Given the description of an element on the screen output the (x, y) to click on. 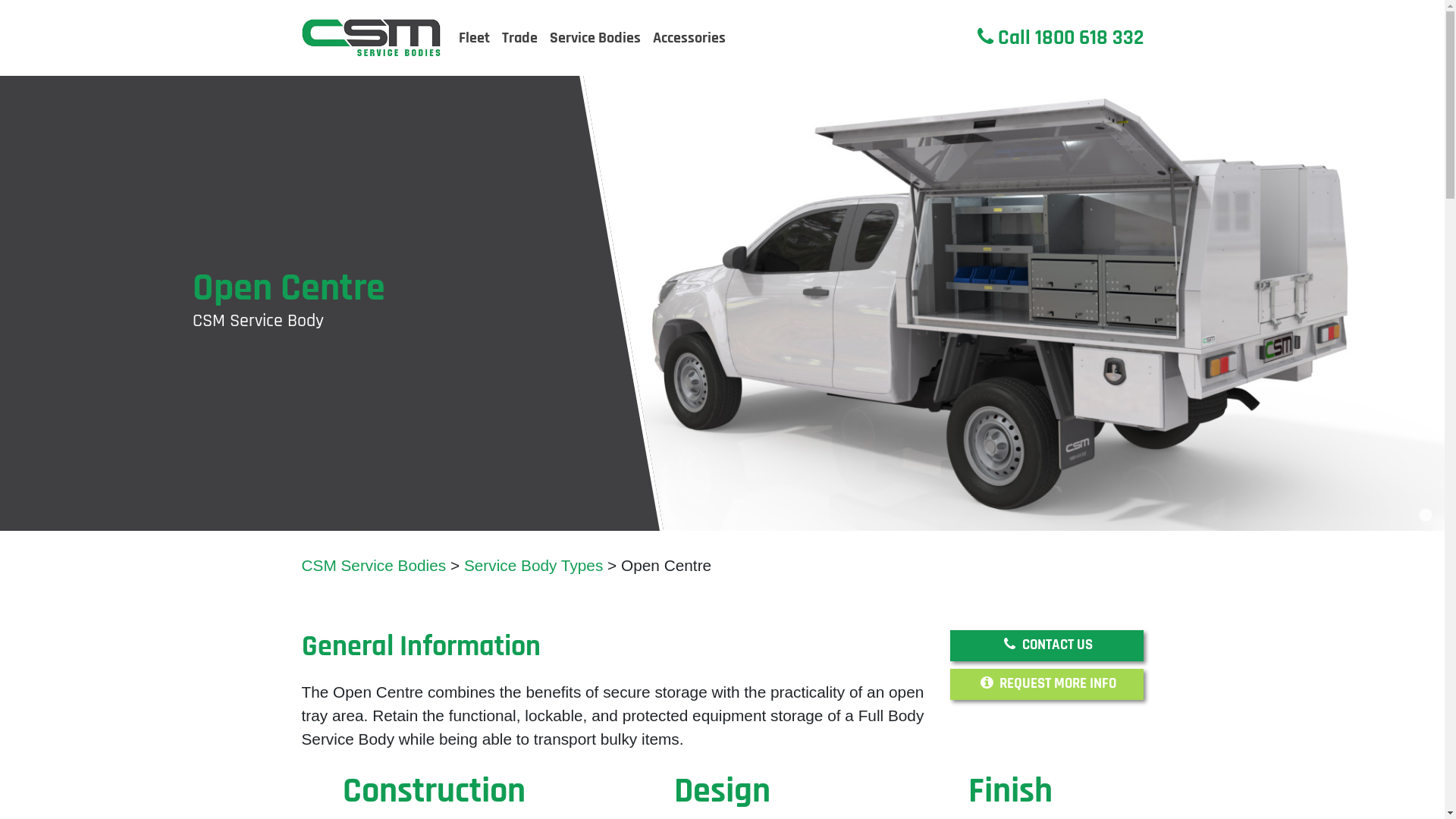
Fleet Element type: text (473, 37)
Service Body Types Element type: text (533, 565)
CONTACT US Element type: text (1045, 645)
Trade Element type: text (519, 37)
REQUEST MORE INFO Element type: text (1045, 683)
Accessories Element type: text (688, 37)
1 Element type: text (1425, 515)
Service Bodies Element type: text (594, 37)
CSM Service Bodies Element type: text (373, 565)
Call 1800 618 332 Element type: text (1059, 37)
